Given the description of an element on the screen output the (x, y) to click on. 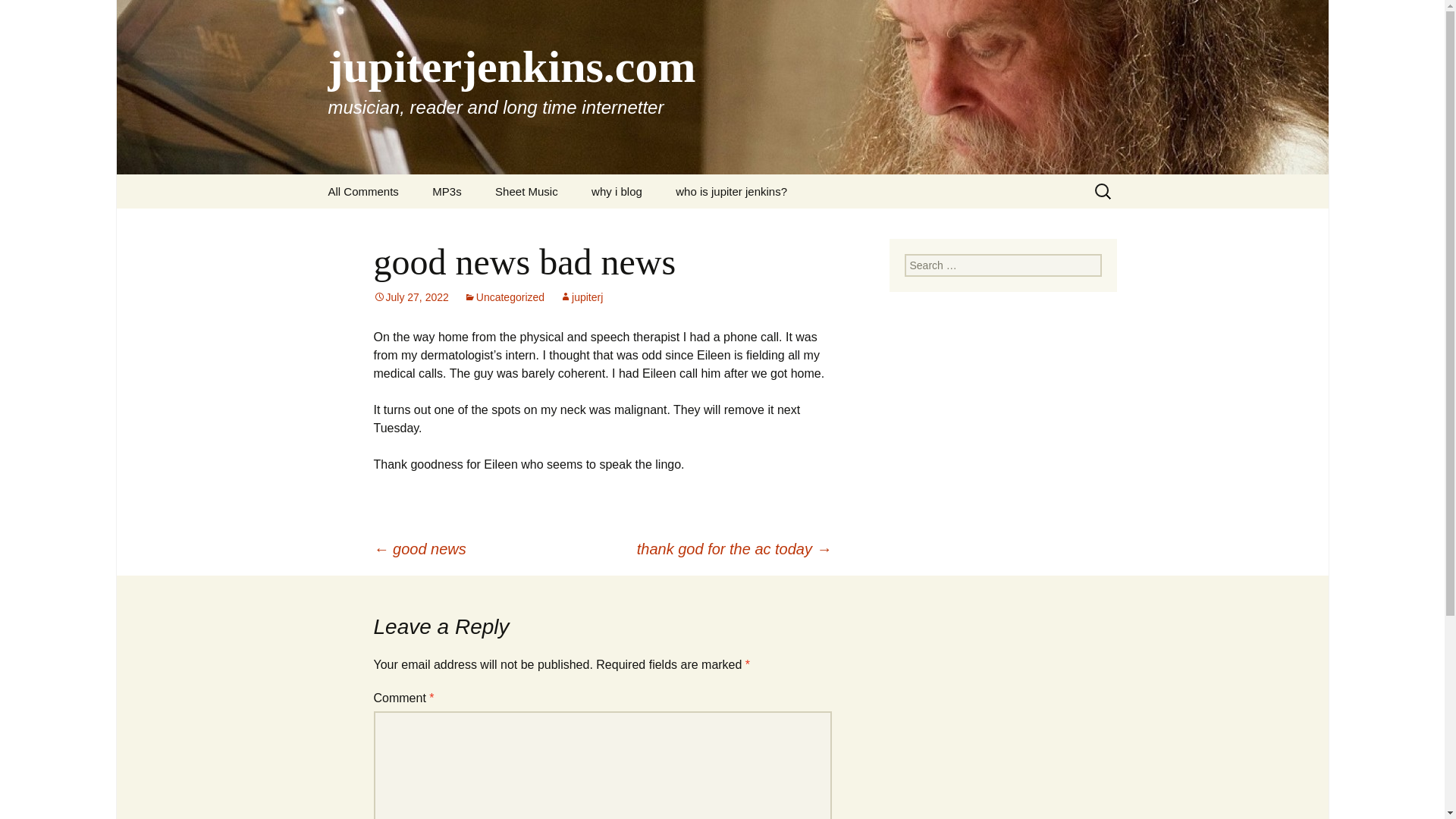
Uncategorized (504, 297)
July 27, 2022 (410, 297)
Search (18, 15)
why i blog (617, 191)
jupiterj (580, 297)
Permalink to good news bad news (410, 297)
View all posts by jupiterj (580, 297)
